Given the description of an element on the screen output the (x, y) to click on. 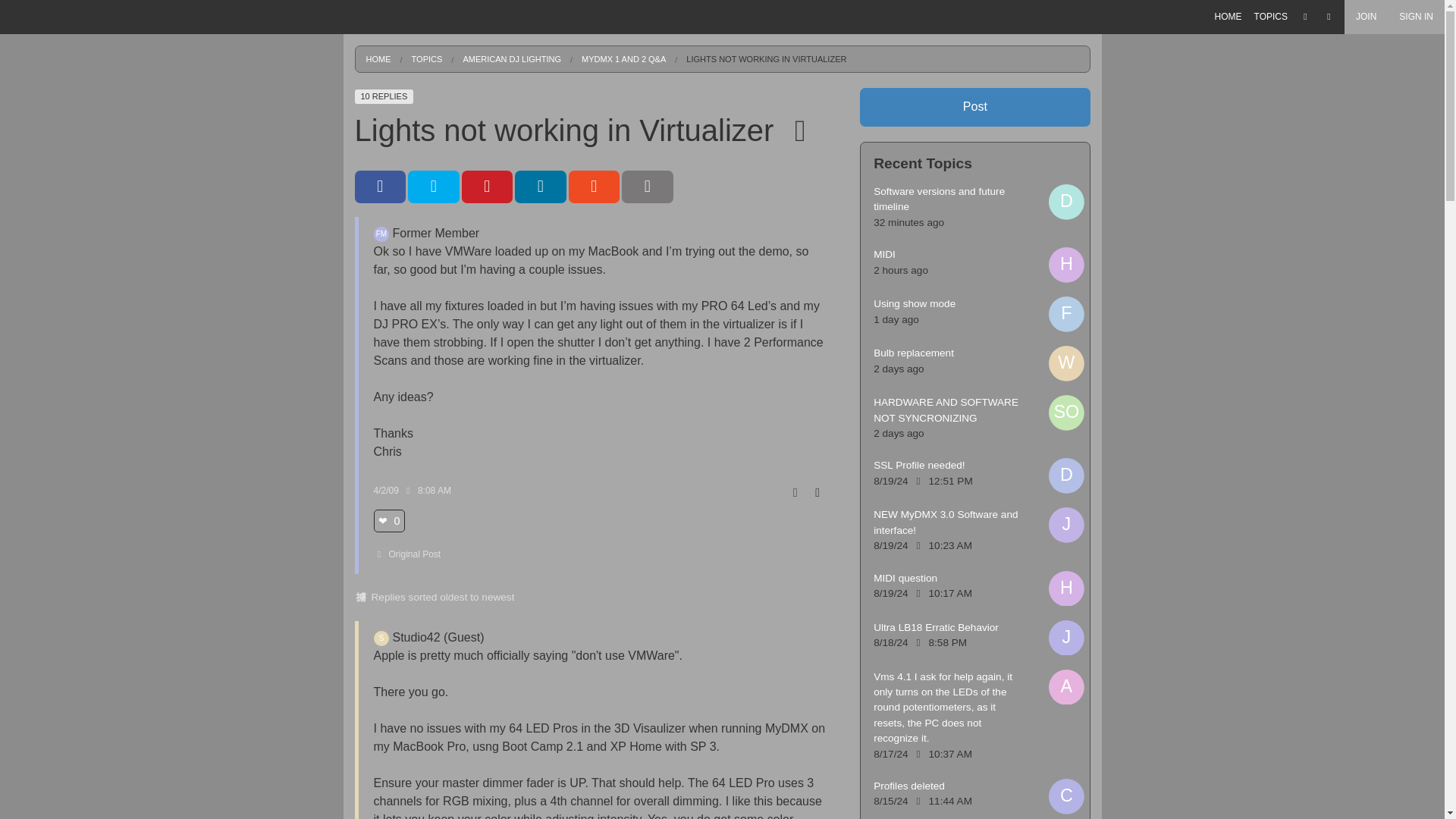
AMERICAN DJ LIGHTING (1270, 128)
ALL TOPICS (1270, 73)
Former Member (380, 233)
FM (380, 233)
SO (1066, 412)
J (1066, 524)
D (1066, 475)
COMPU SHOW (1270, 154)
TOPICS (1270, 17)
ADJ NEWS (1270, 100)
